Given the description of an element on the screen output the (x, y) to click on. 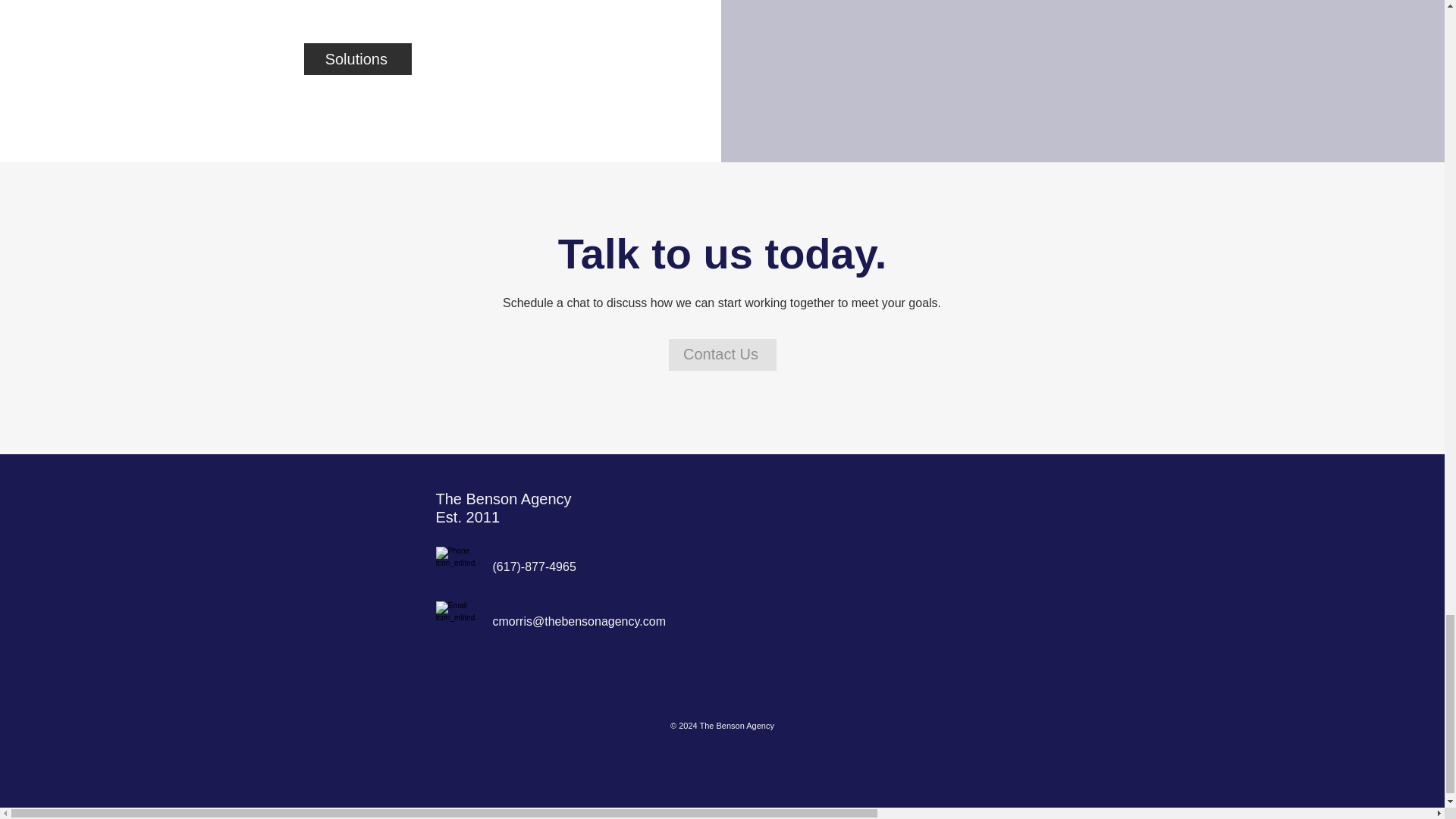
Solutions (358, 59)
Contact Us (722, 355)
